Given the description of an element on the screen output the (x, y) to click on. 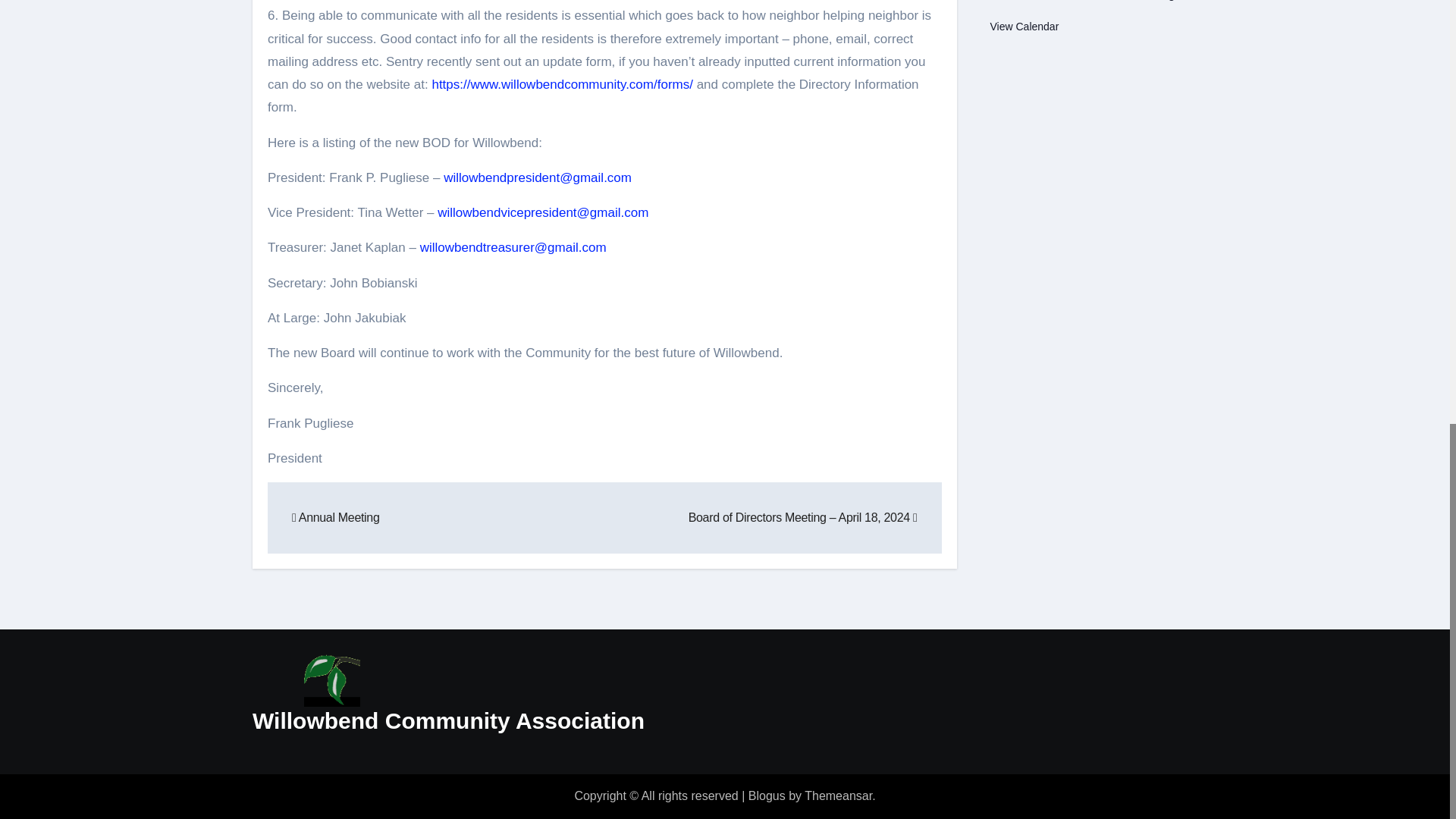
Board of Directors Meeting (1106, 0)
View more events. (1024, 26)
Annual Meeting (335, 517)
